Given the description of an element on the screen output the (x, y) to click on. 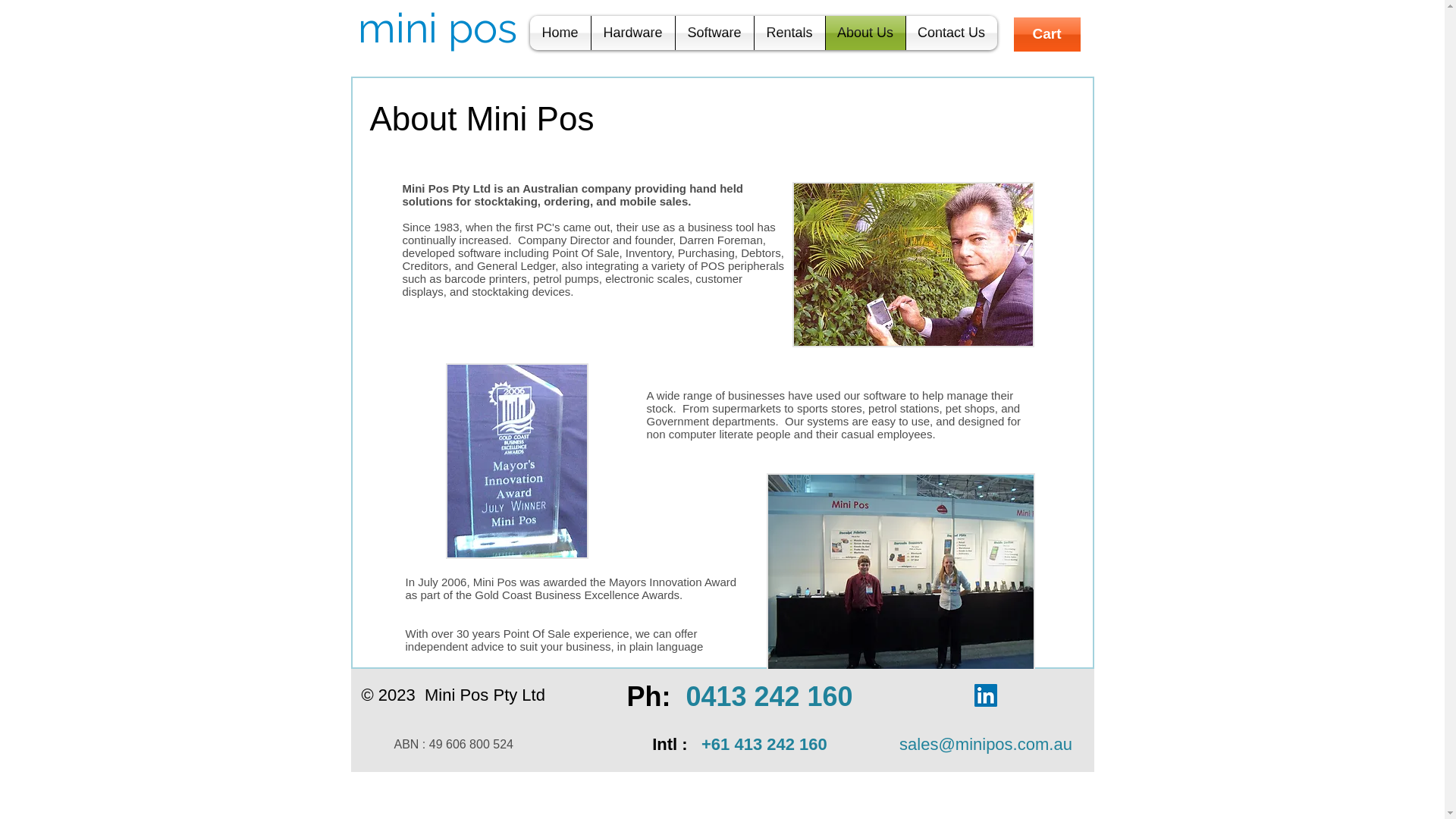
garden.jpg Element type: hover (912, 264)
100_0051.JPG Element type: hover (899, 573)
Rentals Element type: text (788, 32)
Software Element type: text (713, 32)
About Us Element type: text (864, 32)
Hardware Element type: text (632, 32)
Cart Element type: text (1046, 34)
sales@minipos.com.au Element type: text (985, 743)
Contact Us Element type: text (950, 32)
Award.JPG Element type: hover (516, 460)
Home Element type: text (559, 32)
